Given the description of an element on the screen output the (x, y) to click on. 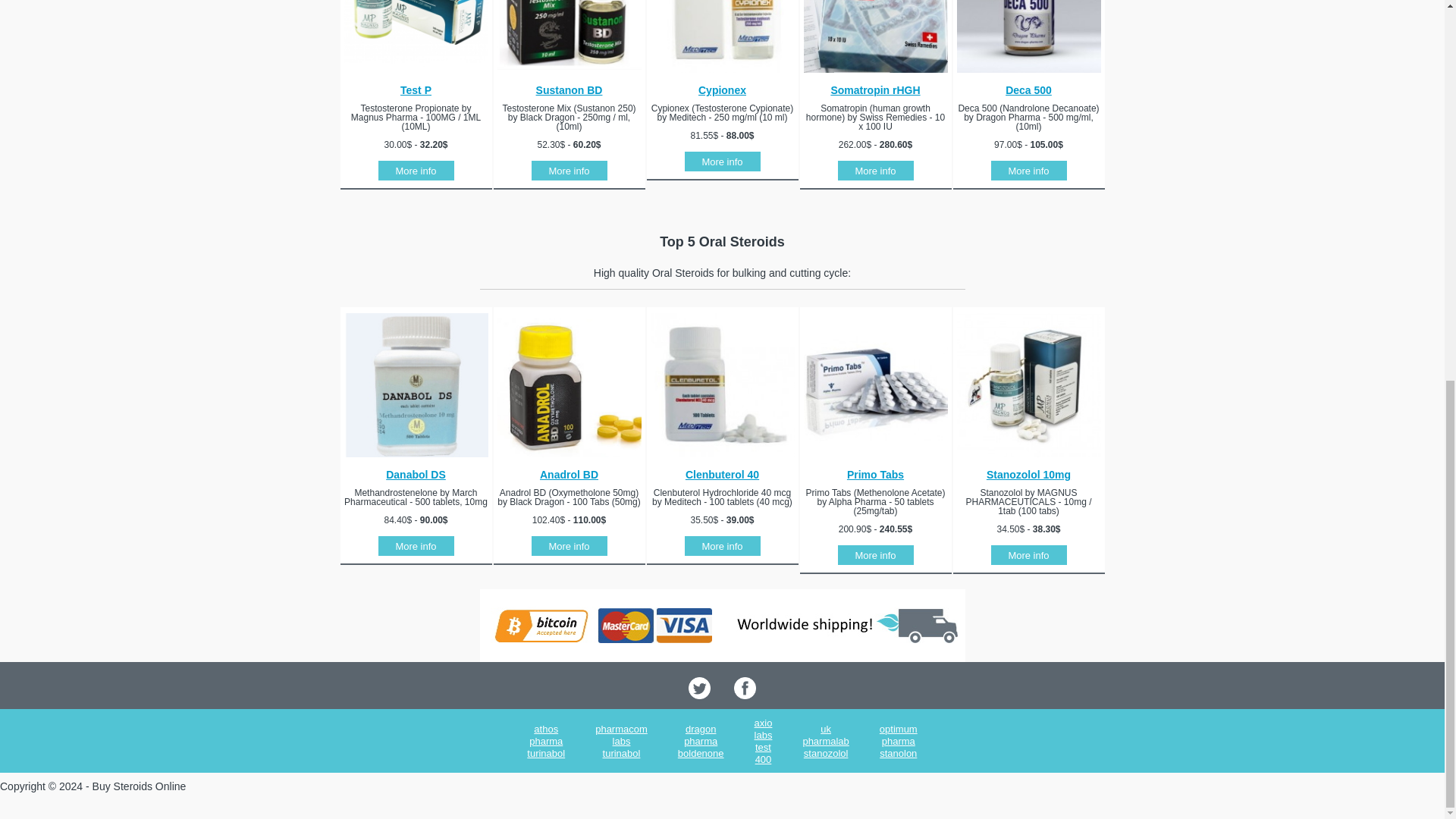
More info (568, 170)
Facebook (744, 695)
More info (1027, 170)
More info (874, 170)
Deca 500 (1028, 90)
More info (721, 161)
Test P (415, 90)
Somatropin rHGH (874, 90)
More info (414, 170)
Cypionex (721, 90)
